Given the description of an element on the screen output the (x, y) to click on. 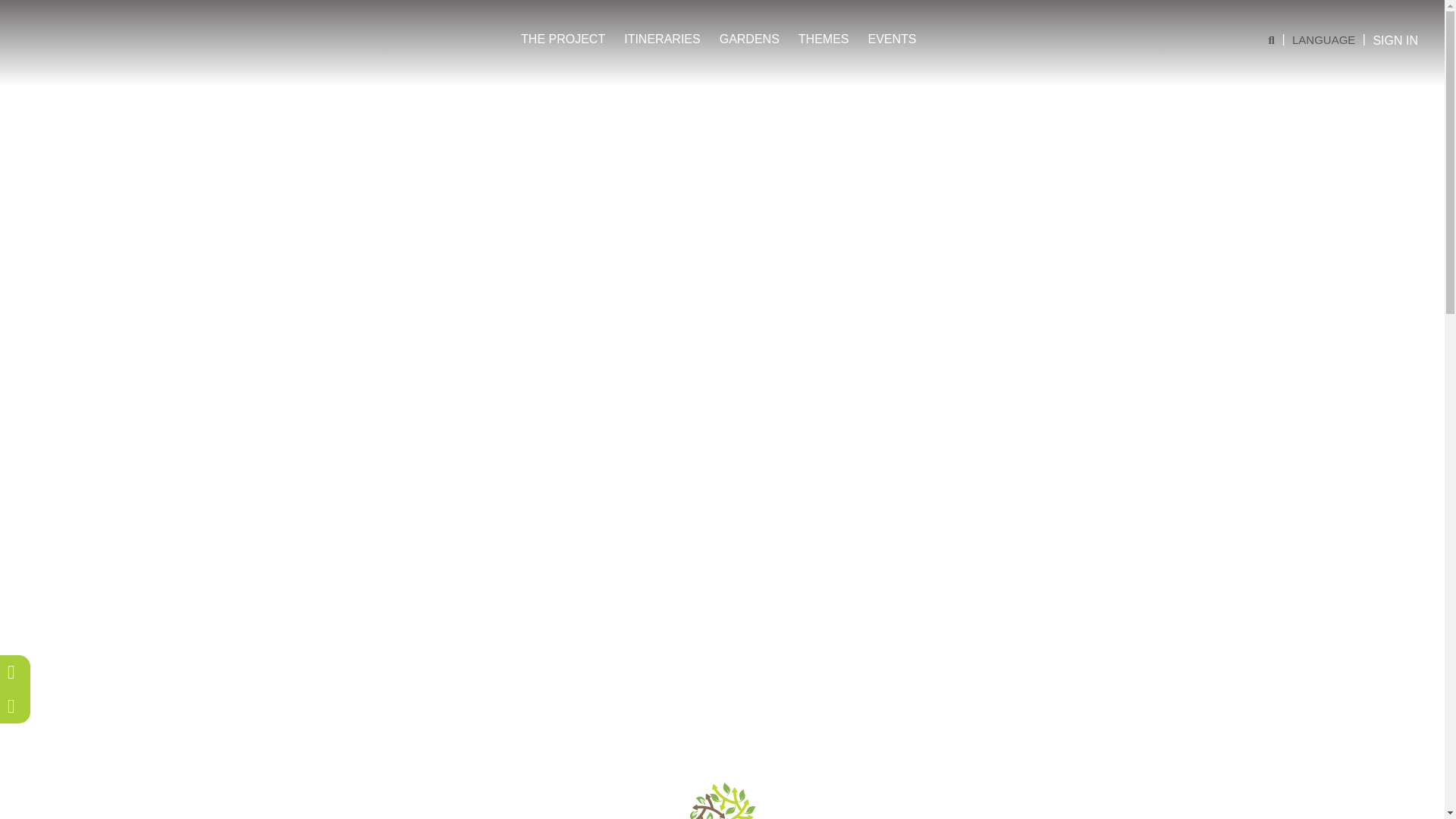
THEMES (822, 38)
Themes (822, 38)
GARDENS (748, 38)
The Project (563, 38)
THE PROJECT (563, 38)
Events (892, 38)
Gardens (748, 38)
ITINERARIES (662, 38)
LANGUAGE (1323, 40)
EVENTS (892, 38)
